Given the description of an element on the screen output the (x, y) to click on. 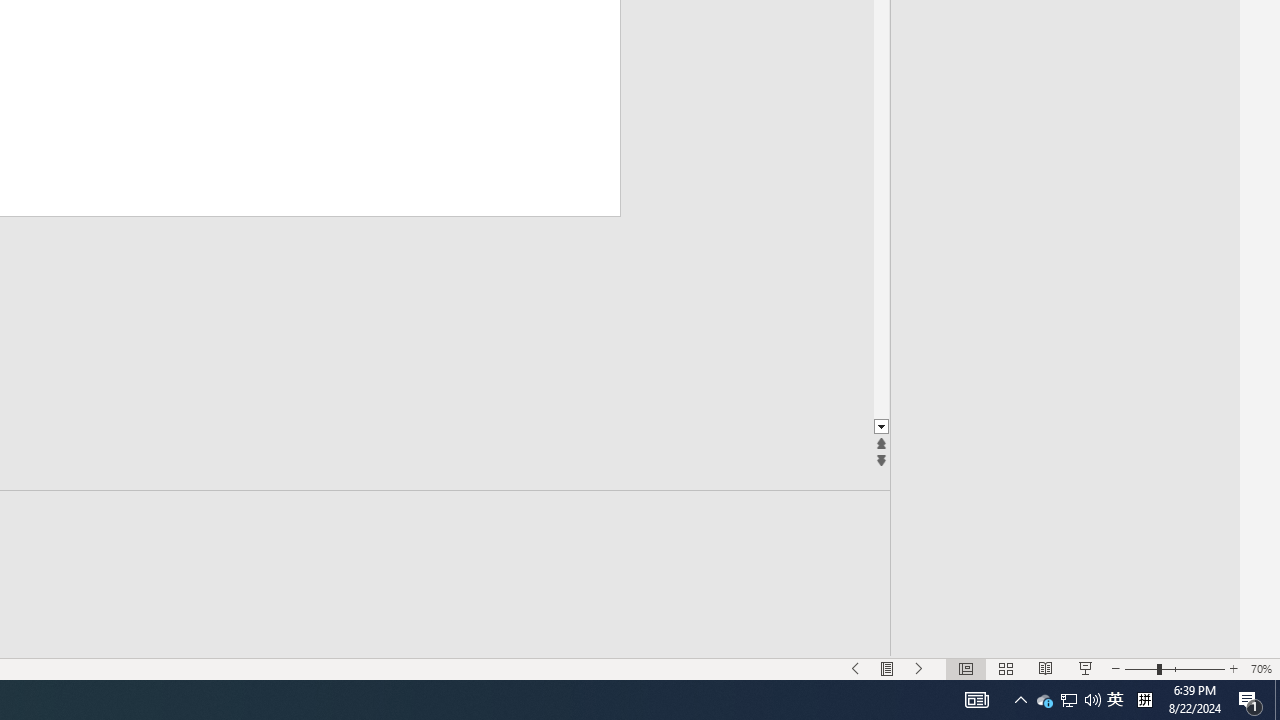
Slide Show Previous On (855, 668)
Menu On (887, 668)
